Given the description of an element on the screen output the (x, y) to click on. 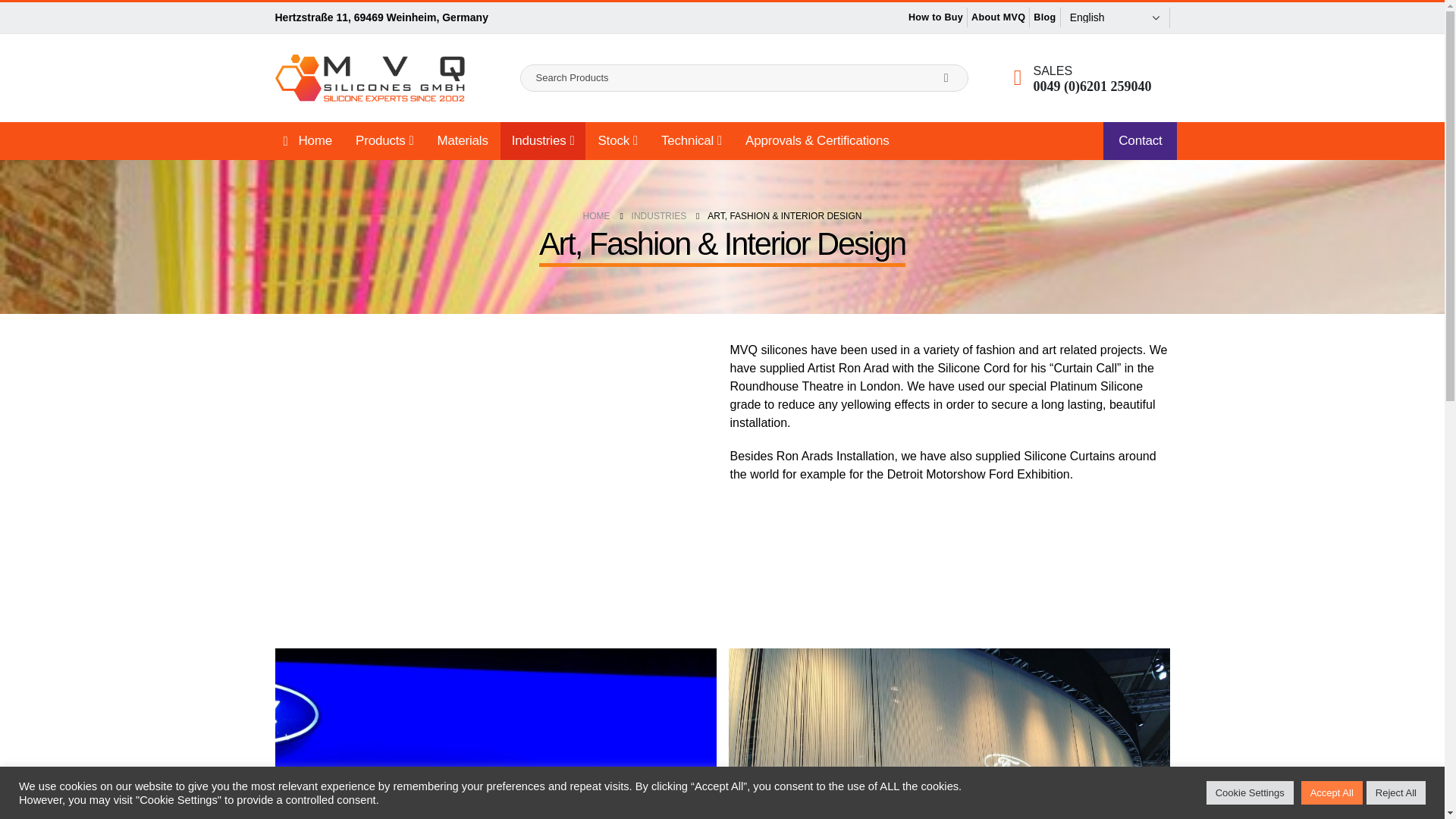
Ron Arad's Curtain Call (494, 464)
Go to Home Page (596, 216)
Industries (543, 140)
Blog (1044, 17)
Materials (462, 140)
Stock (617, 140)
How to Buy (935, 17)
MVQ Silicones GmbH - High-quality silicone rubber products (369, 77)
About MVQ (998, 17)
Search (946, 77)
Products (384, 140)
Home (304, 140)
